Given the description of an element on the screen output the (x, y) to click on. 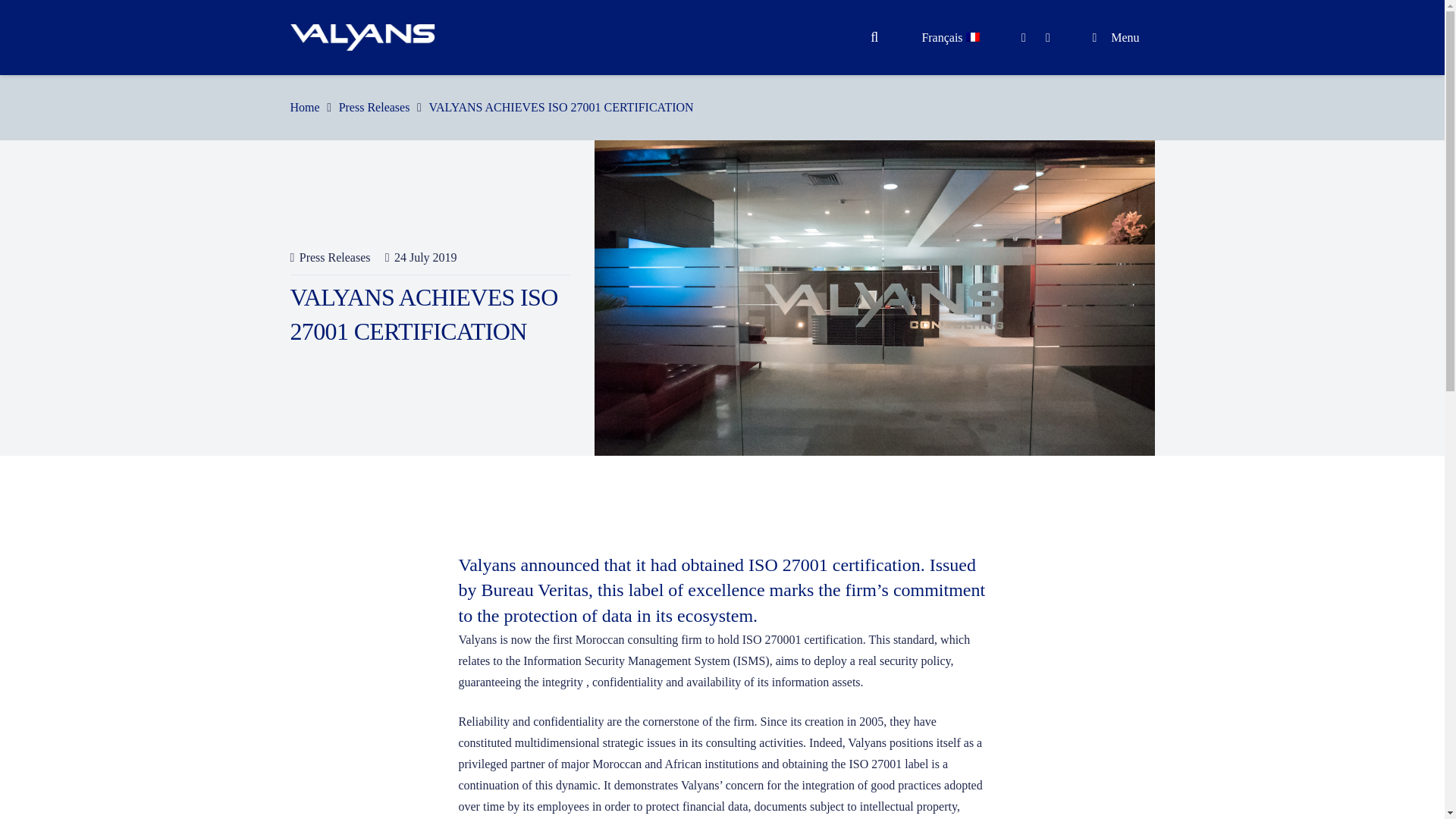
LinkedIn (1023, 37)
Menu (1115, 37)
YouTube (1047, 37)
